Given the description of an element on the screen output the (x, y) to click on. 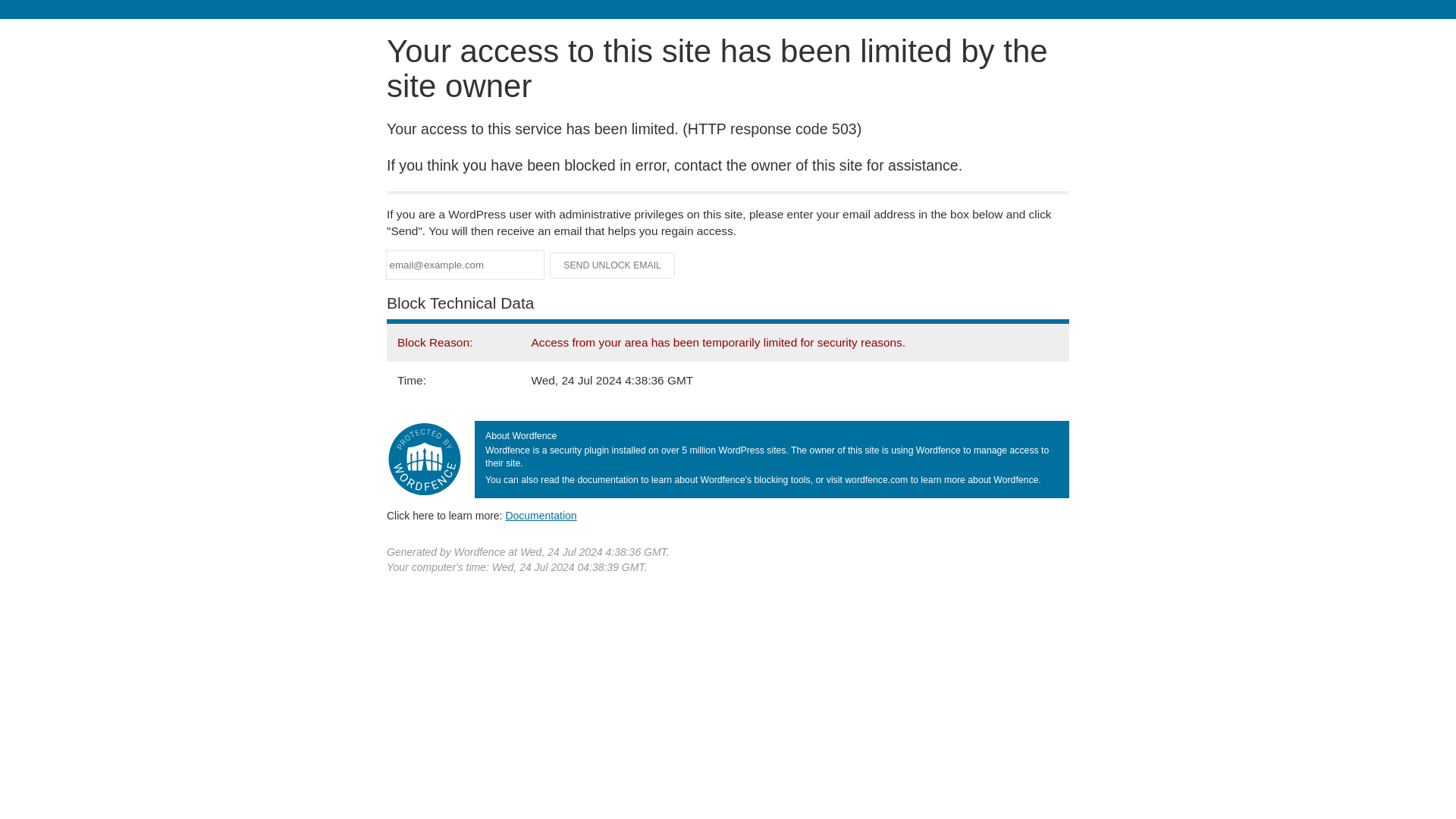
Documentation (540, 515)
Send Unlock Email (612, 265)
Send Unlock Email (612, 265)
